Given the description of an element on the screen output the (x, y) to click on. 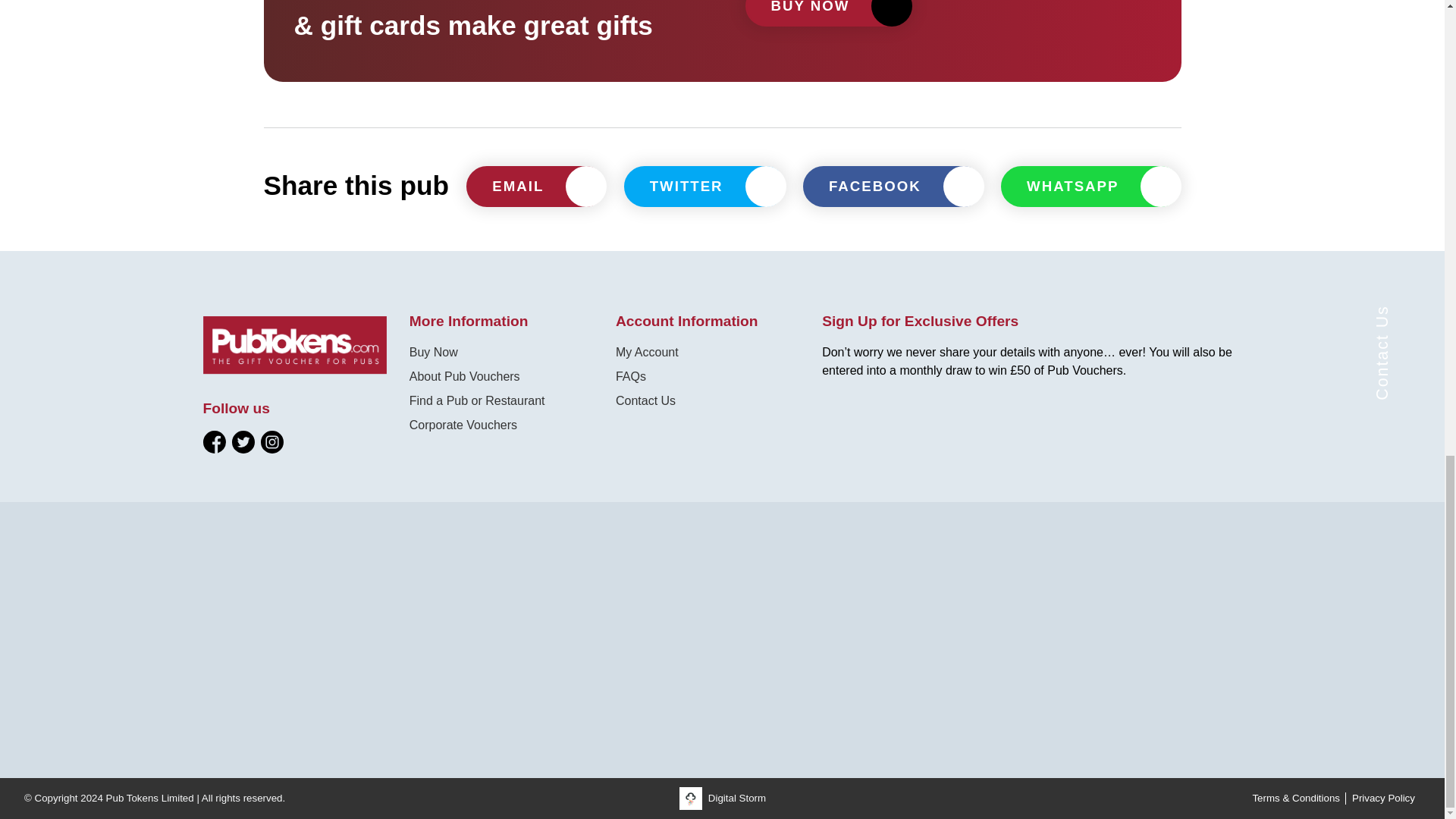
FACEBOOK (893, 186)
WHATSAPP (1090, 186)
TWITTER (705, 186)
Find a Pub or Restaurant (476, 400)
Corporate Vouchers (462, 424)
About Pub Vouchers (464, 376)
EMAIL (535, 186)
Buy Now (433, 351)
BUY NOW (827, 13)
